Given the description of an element on the screen output the (x, y) to click on. 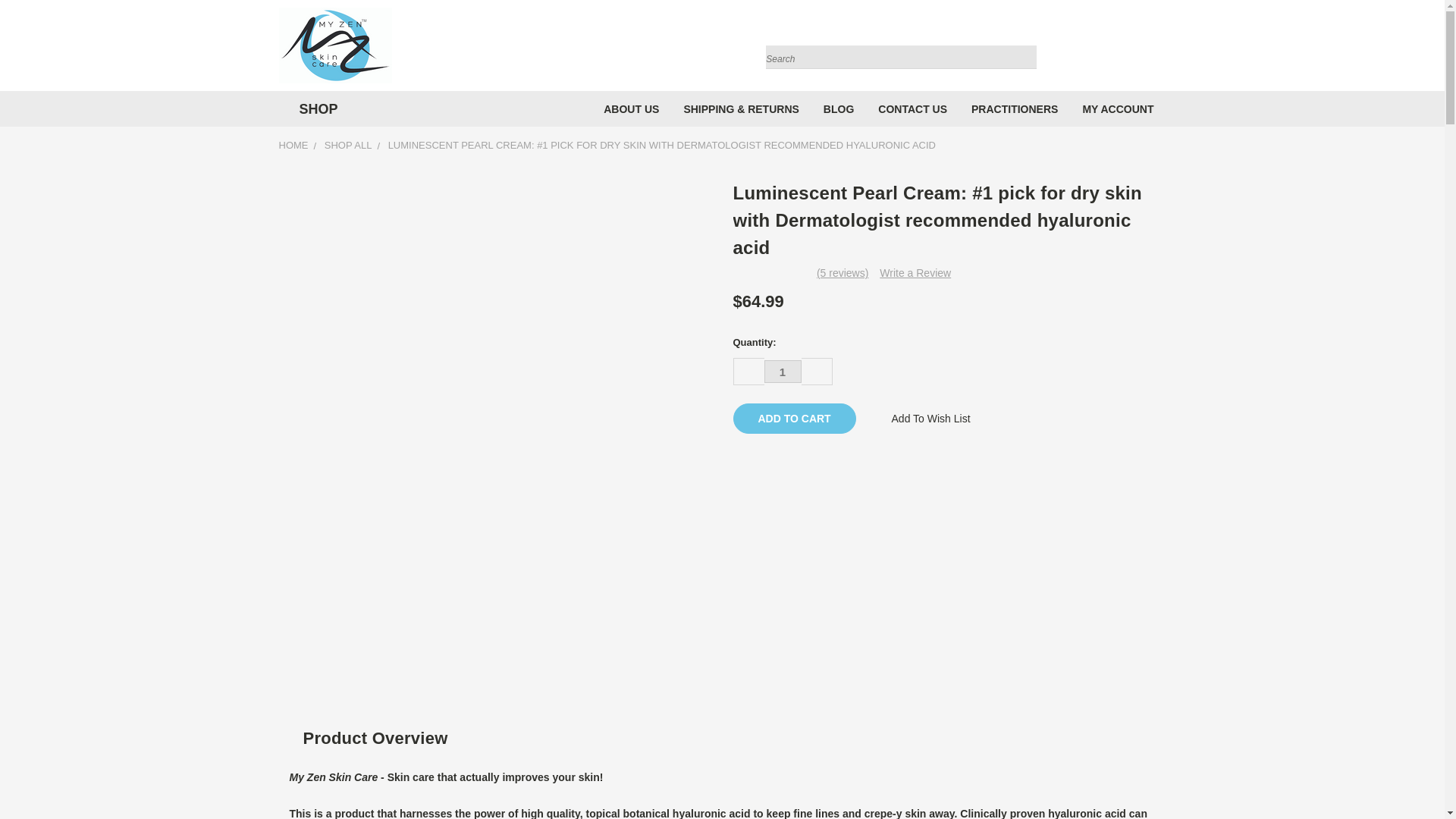
Add to Cart (794, 418)
My Zen Skin Care (335, 45)
User Toolbox (1105, 48)
1 (783, 371)
Cart (1161, 48)
Gift Certificates (1135, 48)
SHOP (314, 109)
Submit Search (1024, 38)
